Given the description of an element on the screen output the (x, y) to click on. 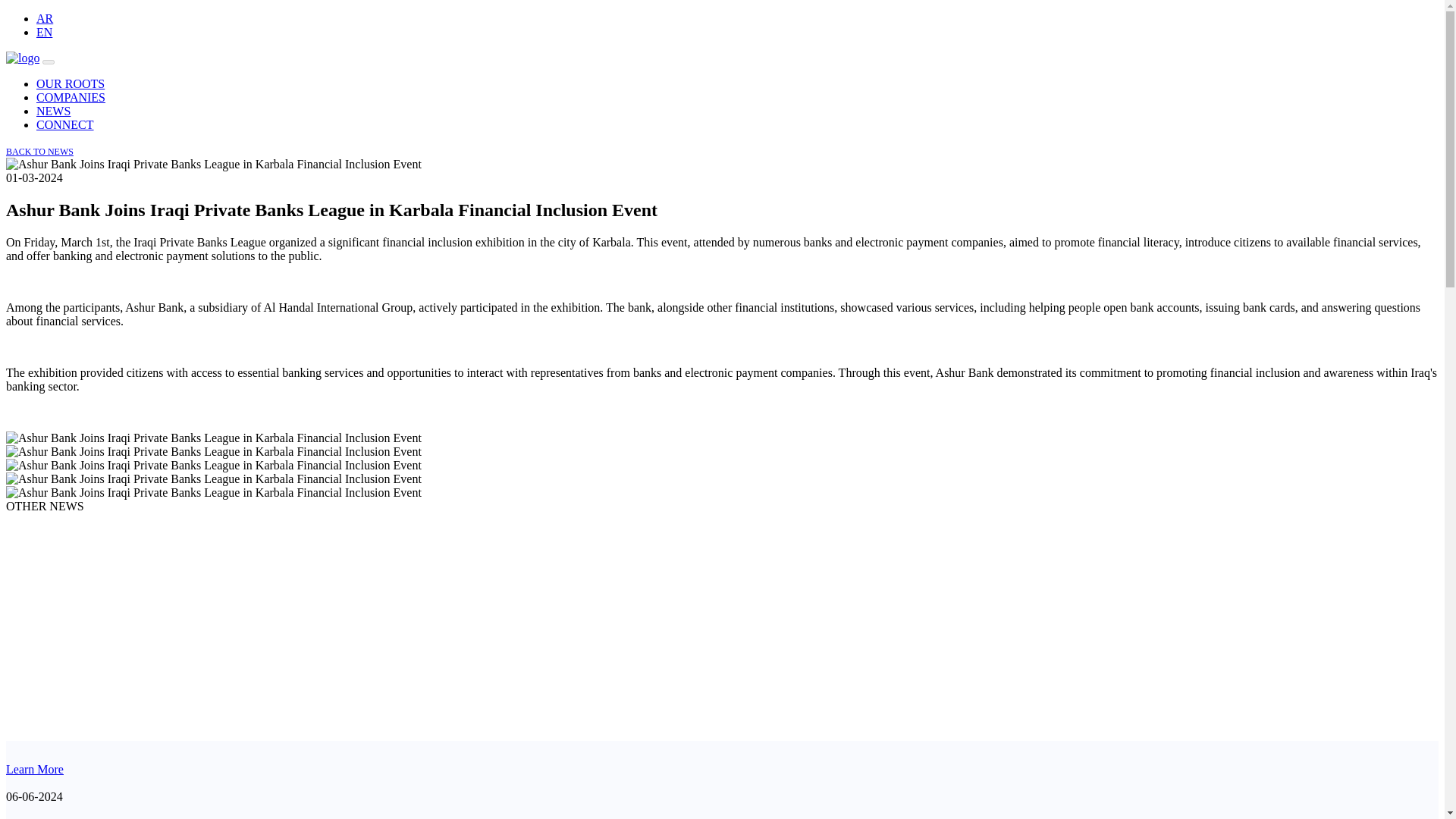
AR (44, 18)
Learn More (34, 768)
OUR ROOTS (70, 83)
COMPANIES (70, 97)
BACK TO NEWS (39, 151)
Learn More (34, 656)
EN (44, 31)
CONNECT (65, 124)
NEWS (52, 110)
